Given the description of an element on the screen output the (x, y) to click on. 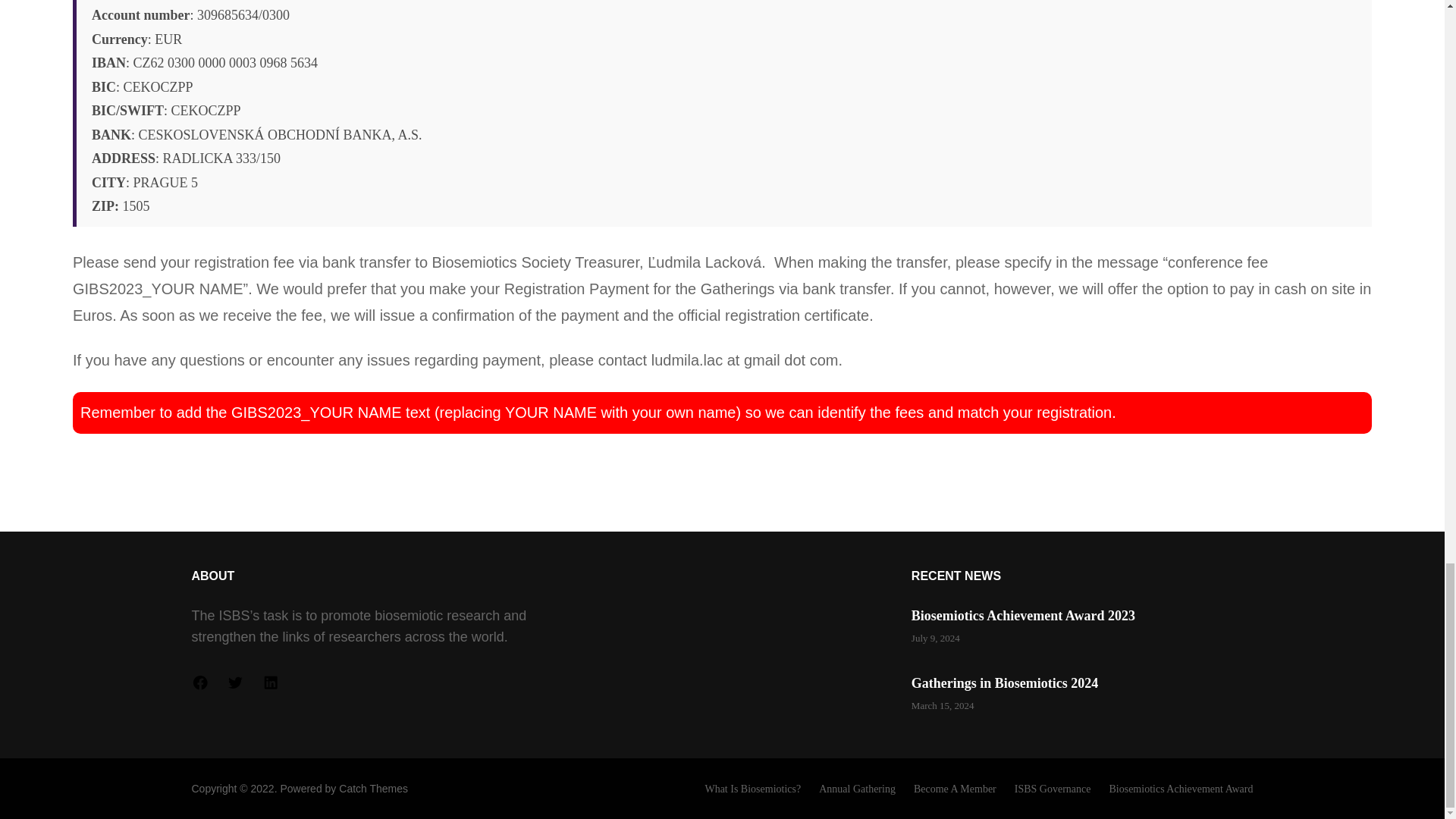
Become A Member (954, 788)
LinkedIn (270, 682)
Gatherings in Biosemiotics 2024 (1005, 683)
Annual Gathering (856, 788)
Biosemiotics Achievement Award 2023 (1023, 615)
Catch Themes (373, 788)
Twitter (235, 682)
What Is Biosemiotics? (752, 788)
Biosemiotics Achievement Award (1180, 788)
ISBS Governance (1052, 788)
Facebook (199, 682)
